Given the description of an element on the screen output the (x, y) to click on. 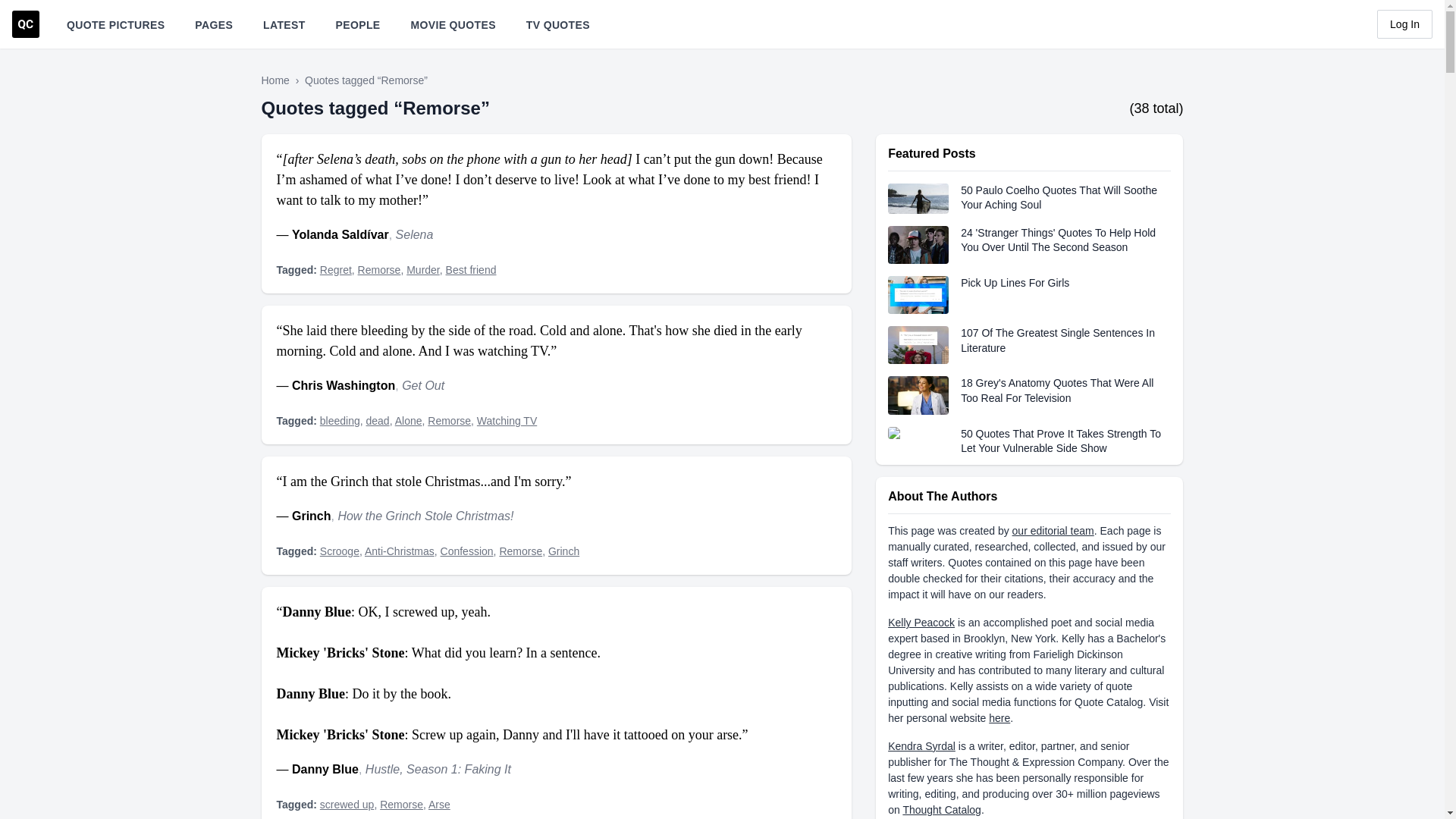
MOVIE QUOTES (453, 24)
Murder (422, 269)
Get Out (422, 385)
Regret (336, 269)
QUOTE PICTURES (115, 24)
PEOPLE (358, 24)
Watching TV (507, 420)
Selena (414, 234)
Remorse (449, 420)
Alone (408, 420)
